Given the description of an element on the screen output the (x, y) to click on. 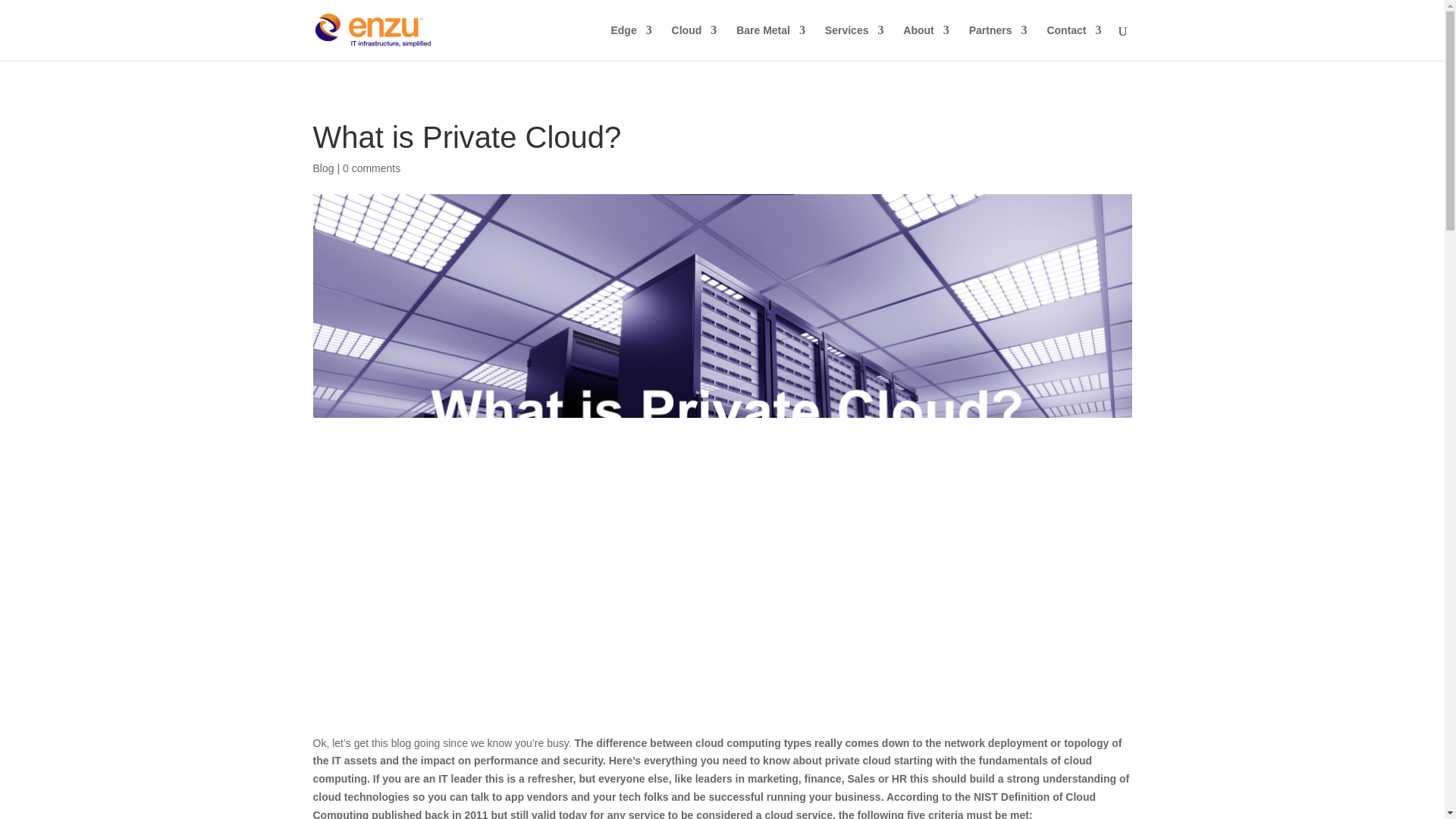
About (925, 42)
Cloud (694, 42)
Bare Metal (770, 42)
Services (854, 42)
Edge (630, 42)
Contact (1073, 42)
Partners (998, 42)
Blog (323, 168)
0 comments (371, 168)
